Given the description of an element on the screen output the (x, y) to click on. 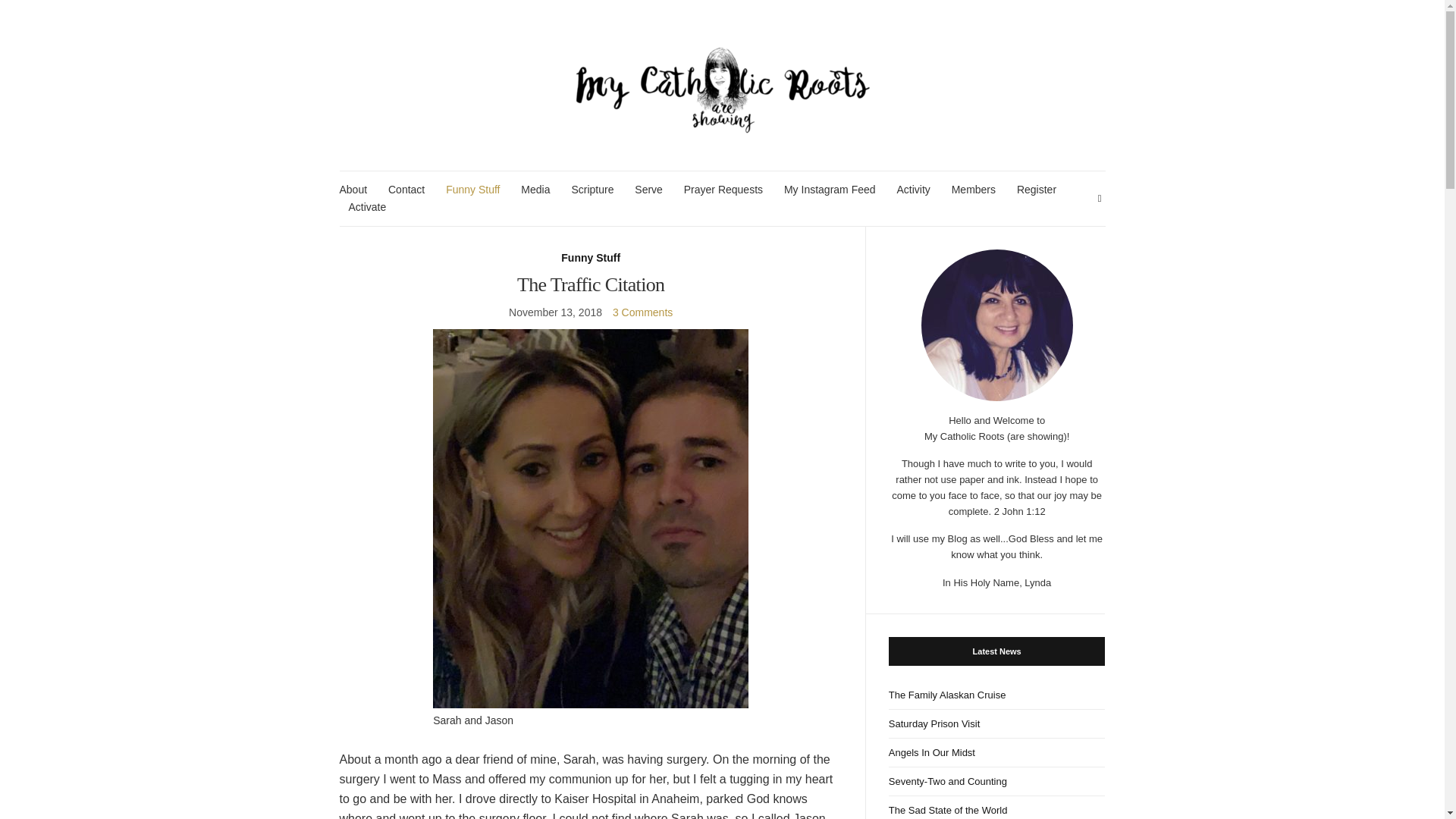
The Family Alaskan Cruise (996, 695)
Activity (913, 189)
Serve (648, 189)
Seventy-Two and Counting (996, 781)
Scripture (591, 189)
My Instagram Feed (830, 189)
3 Comments (642, 312)
Members (973, 189)
Saturday Prison Visit (996, 724)
The Sad State of the World (996, 807)
